Given the description of an element on the screen output the (x, y) to click on. 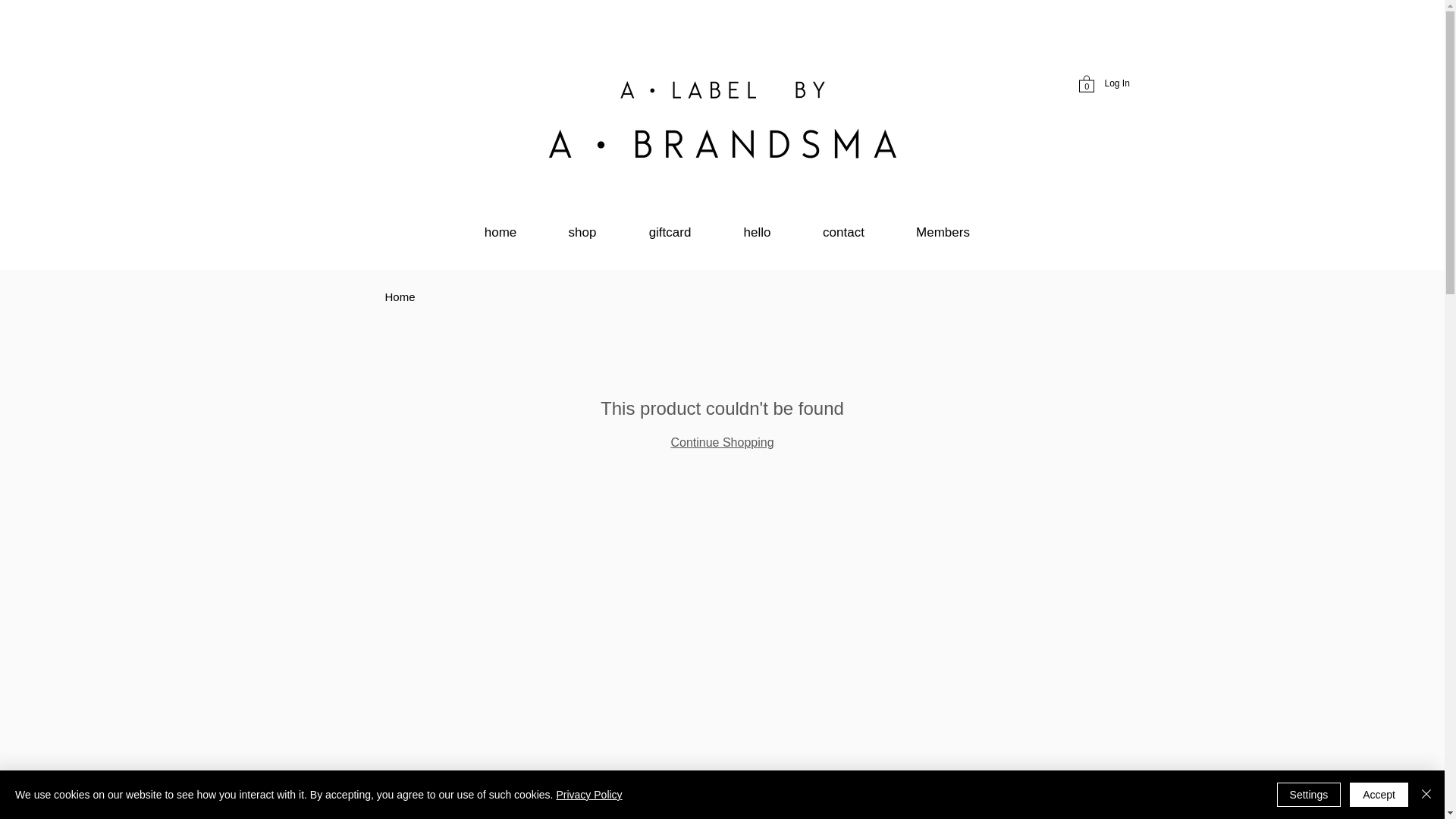
home (499, 232)
hello (756, 232)
Accept (1378, 794)
Members (941, 232)
contact (842, 232)
giftcard (669, 232)
Home (399, 296)
Log In (1116, 83)
Privacy Policy (588, 794)
shop (583, 232)
